Given the description of an element on the screen output the (x, y) to click on. 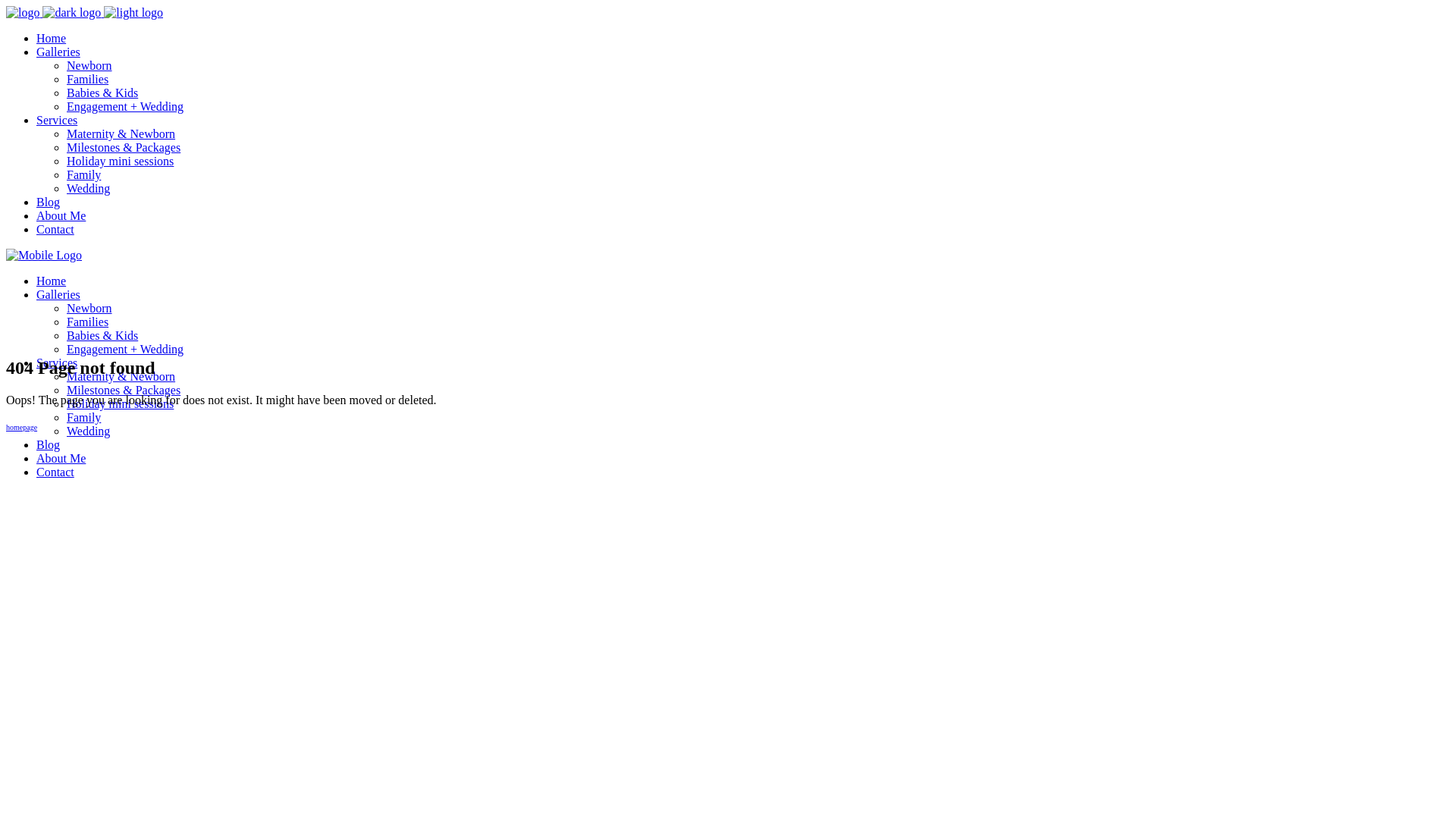
Babies & Kids Element type: text (102, 92)
Blog Element type: text (47, 201)
Engagement + Wedding Element type: text (124, 348)
Maternity & Newborn Element type: text (120, 133)
Newborn Element type: text (89, 65)
Family Element type: text (83, 417)
Families Element type: text (87, 78)
homepage Element type: text (21, 427)
Holiday mini sessions Element type: text (119, 160)
Milestones & Packages Element type: text (123, 147)
Families Element type: text (87, 321)
Home Element type: text (50, 37)
Wedding Element type: text (87, 188)
Contact Element type: text (55, 471)
Milestones & Packages Element type: text (123, 389)
About Me Element type: text (60, 457)
Galleries Element type: text (58, 294)
Holiday mini sessions Element type: text (119, 403)
Family Element type: text (83, 174)
Newborn Element type: text (89, 307)
Maternity & Newborn Element type: text (120, 376)
Engagement + Wedding Element type: text (124, 106)
Babies & Kids Element type: text (102, 335)
Blog Element type: text (47, 444)
Services Element type: text (56, 119)
Wedding Element type: text (87, 430)
About Me Element type: text (60, 215)
Home Element type: text (50, 280)
Contact Element type: text (55, 228)
Galleries Element type: text (58, 51)
Services Element type: text (56, 362)
